Given the description of an element on the screen output the (x, y) to click on. 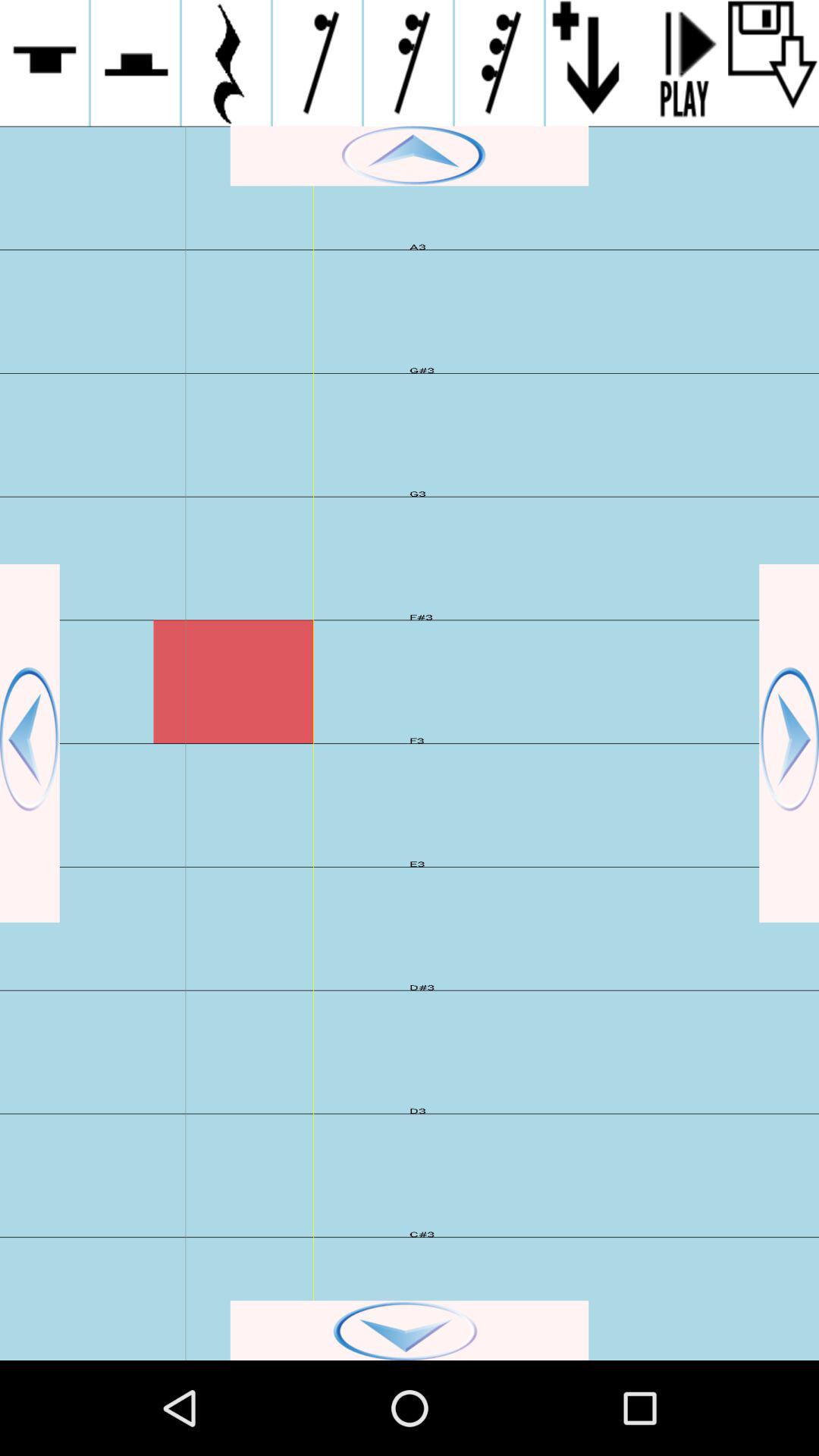
download (773, 63)
